Given the description of an element on the screen output the (x, y) to click on. 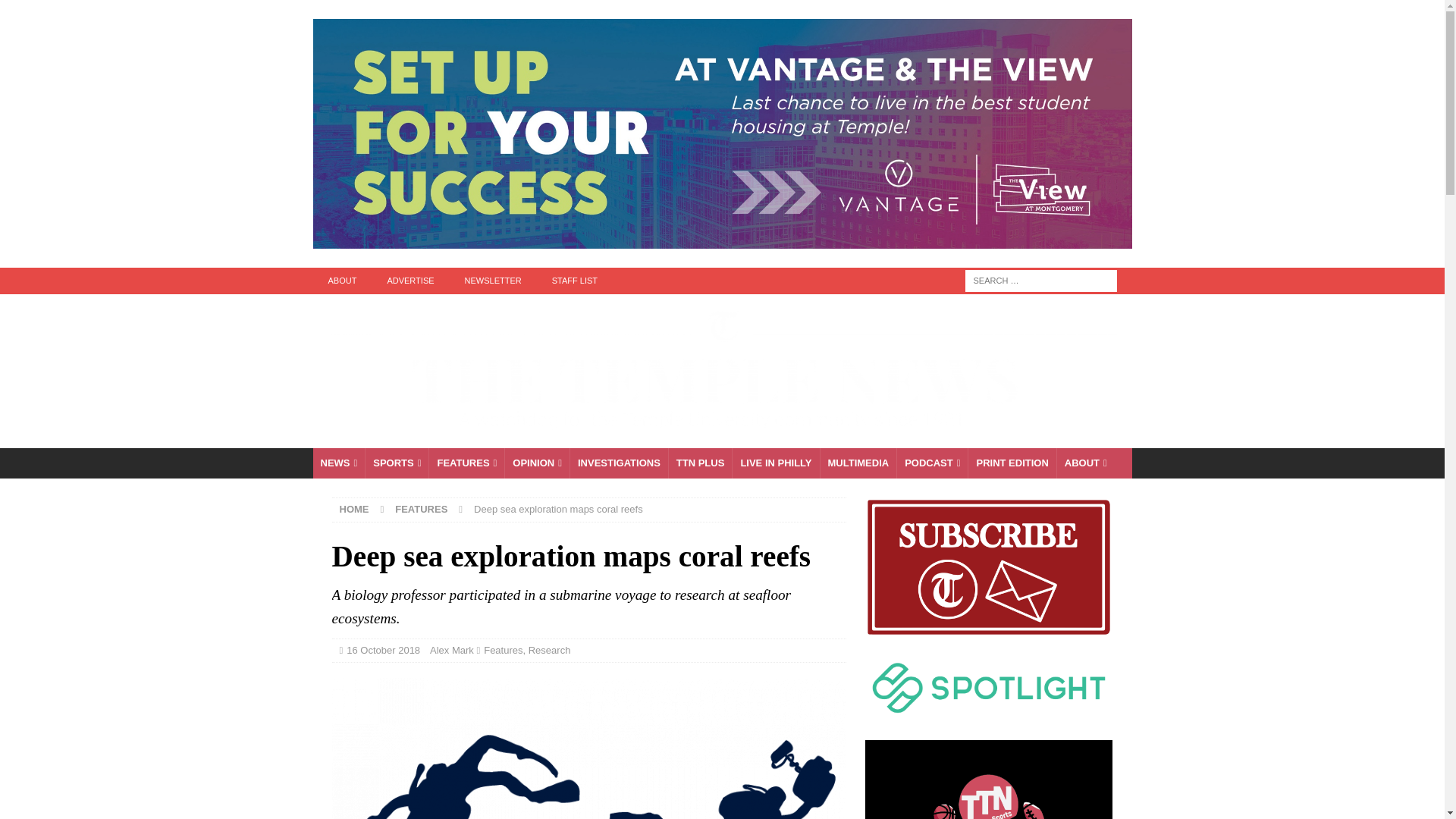
STAFF LIST (574, 280)
Search (56, 11)
Posts by Alex Mark (451, 650)
Longform (700, 463)
NEWSLETTER (493, 280)
ABOUT (342, 280)
ADVERTISE (409, 280)
Artboard 1 (588, 748)
